Given the description of an element on the screen output the (x, y) to click on. 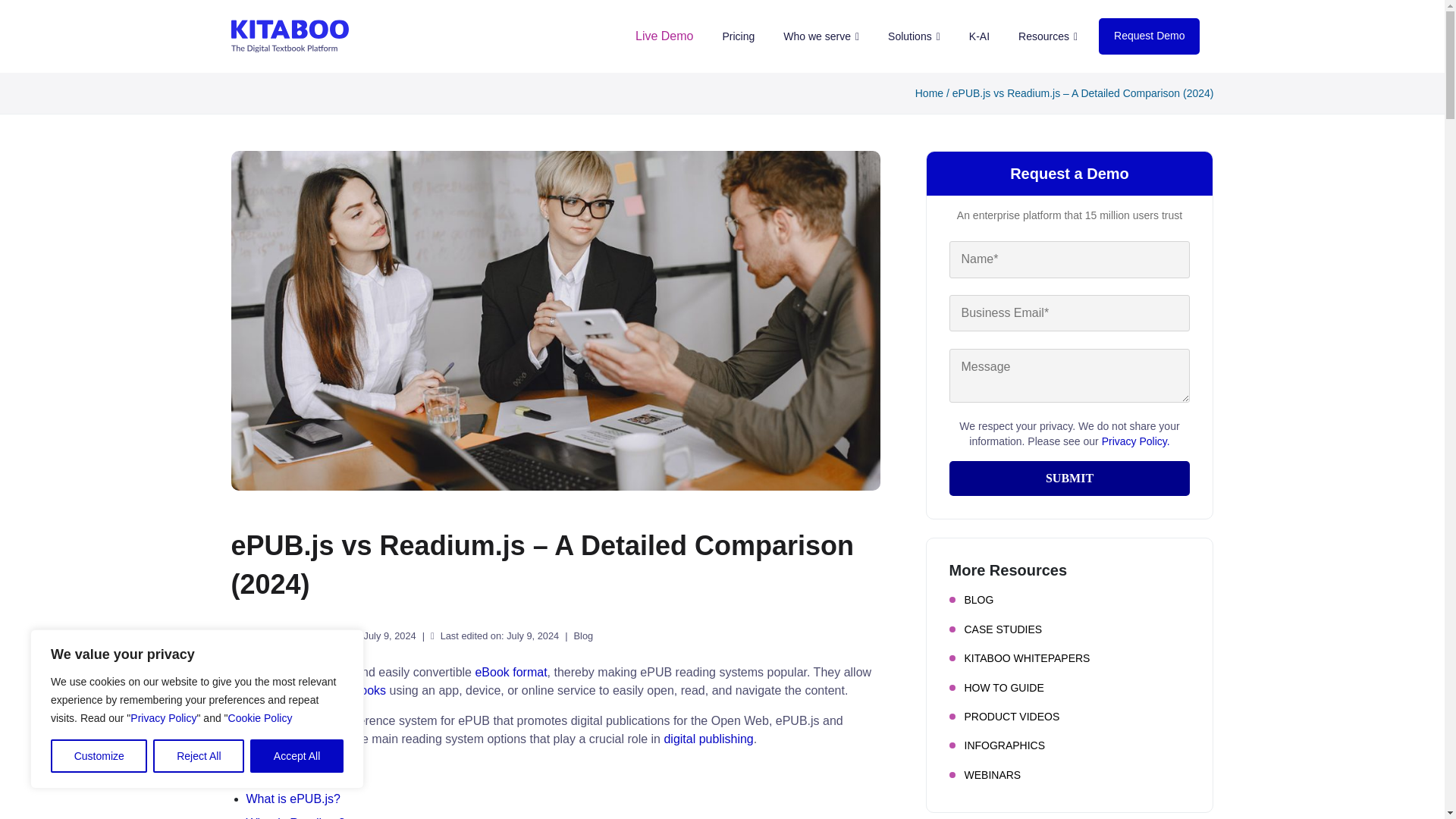
Resources (1047, 36)
Cookie Policy (260, 717)
Reject All (198, 756)
Accept All (296, 756)
Submit (1070, 478)
Solutions (913, 36)
Who we serve (821, 36)
Customize (98, 756)
Live Demo (663, 36)
Privacy Policy (163, 717)
Kitaboo (288, 35)
